Given the description of an element on the screen output the (x, y) to click on. 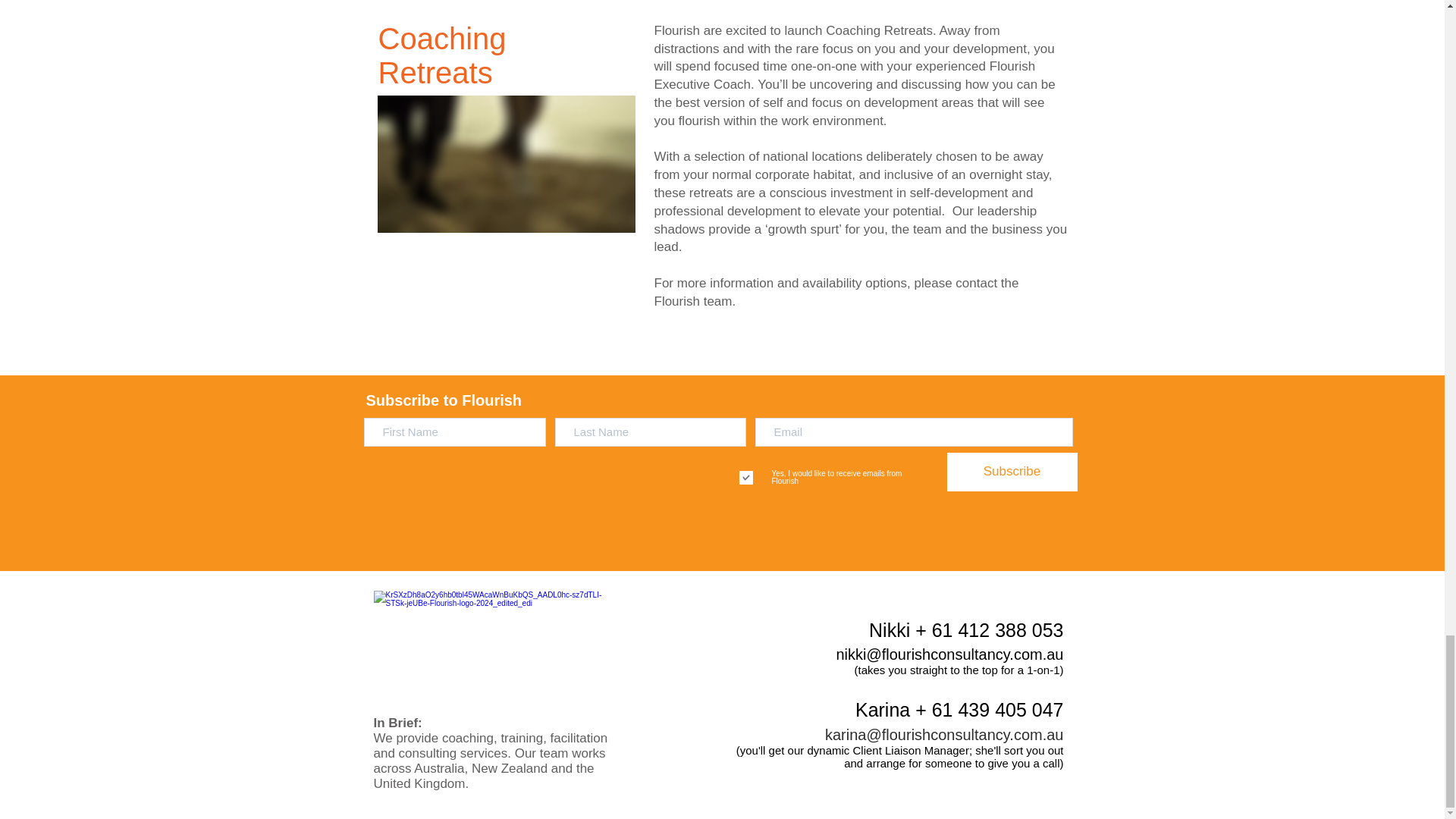
Subscribe (1011, 471)
